Given the description of an element on the screen output the (x, y) to click on. 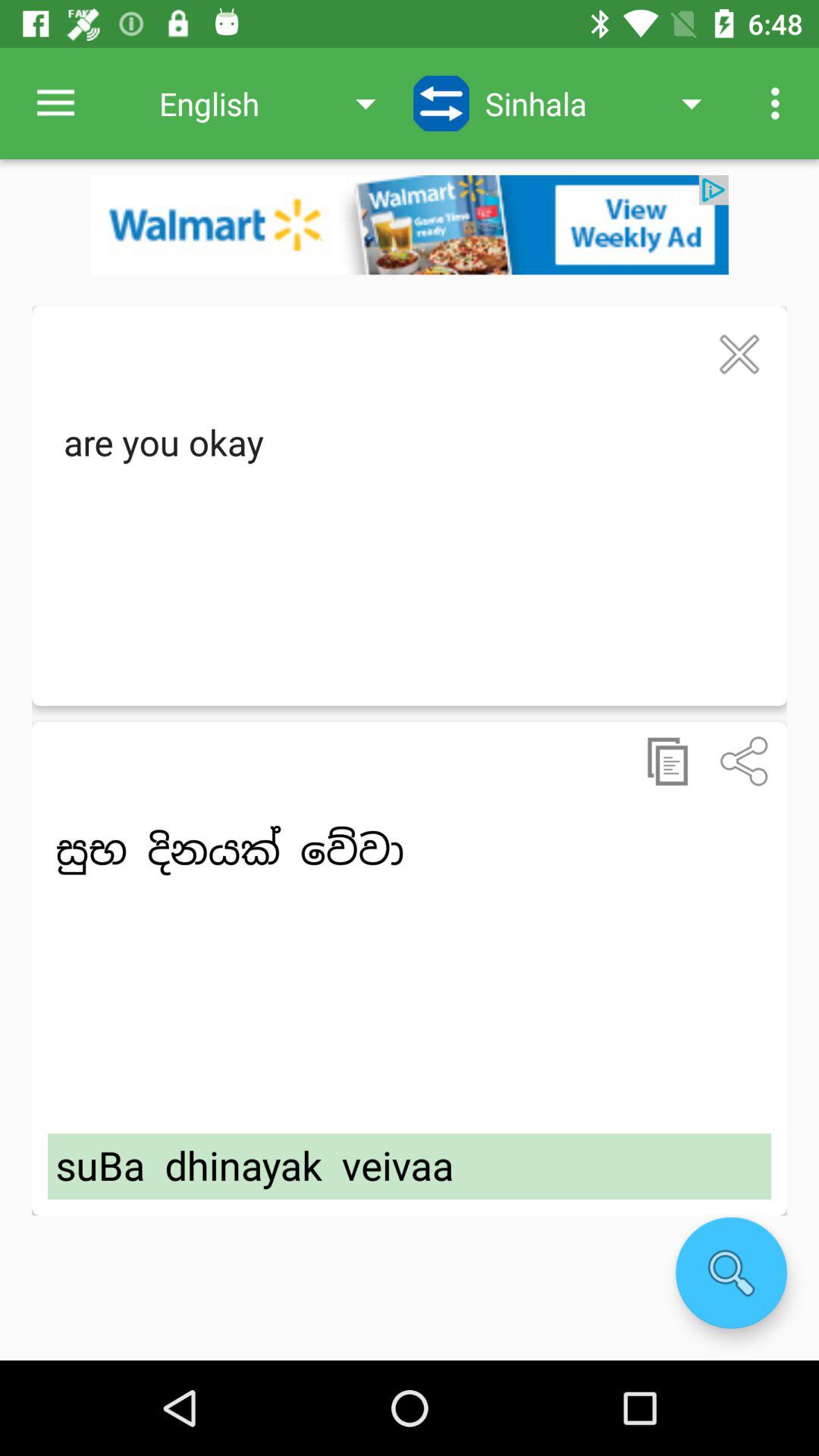
choose the icon next to sinhala icon (441, 103)
